Given the description of an element on the screen output the (x, y) to click on. 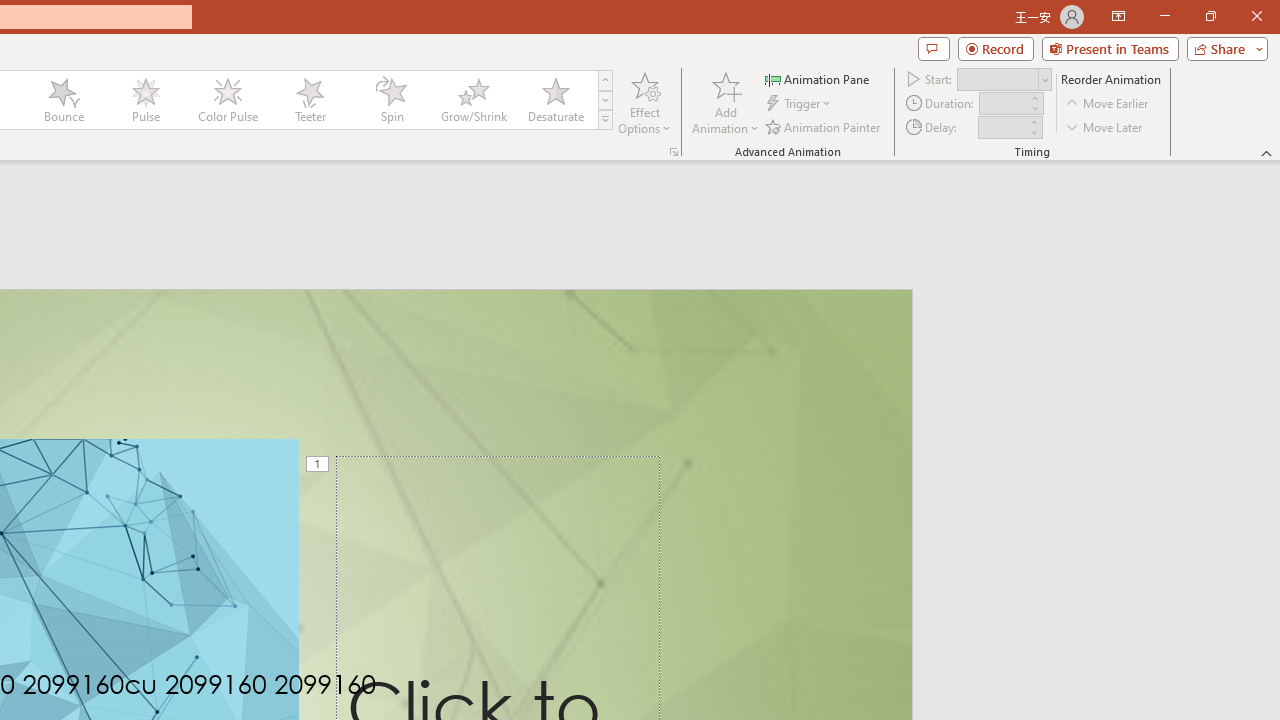
Animation Painter (824, 126)
Move Earlier (1107, 103)
Animation Duration (1003, 103)
Grow/Shrink (473, 100)
Add Animation (725, 102)
Bounce (63, 100)
Trigger (799, 103)
